Given the description of an element on the screen output the (x, y) to click on. 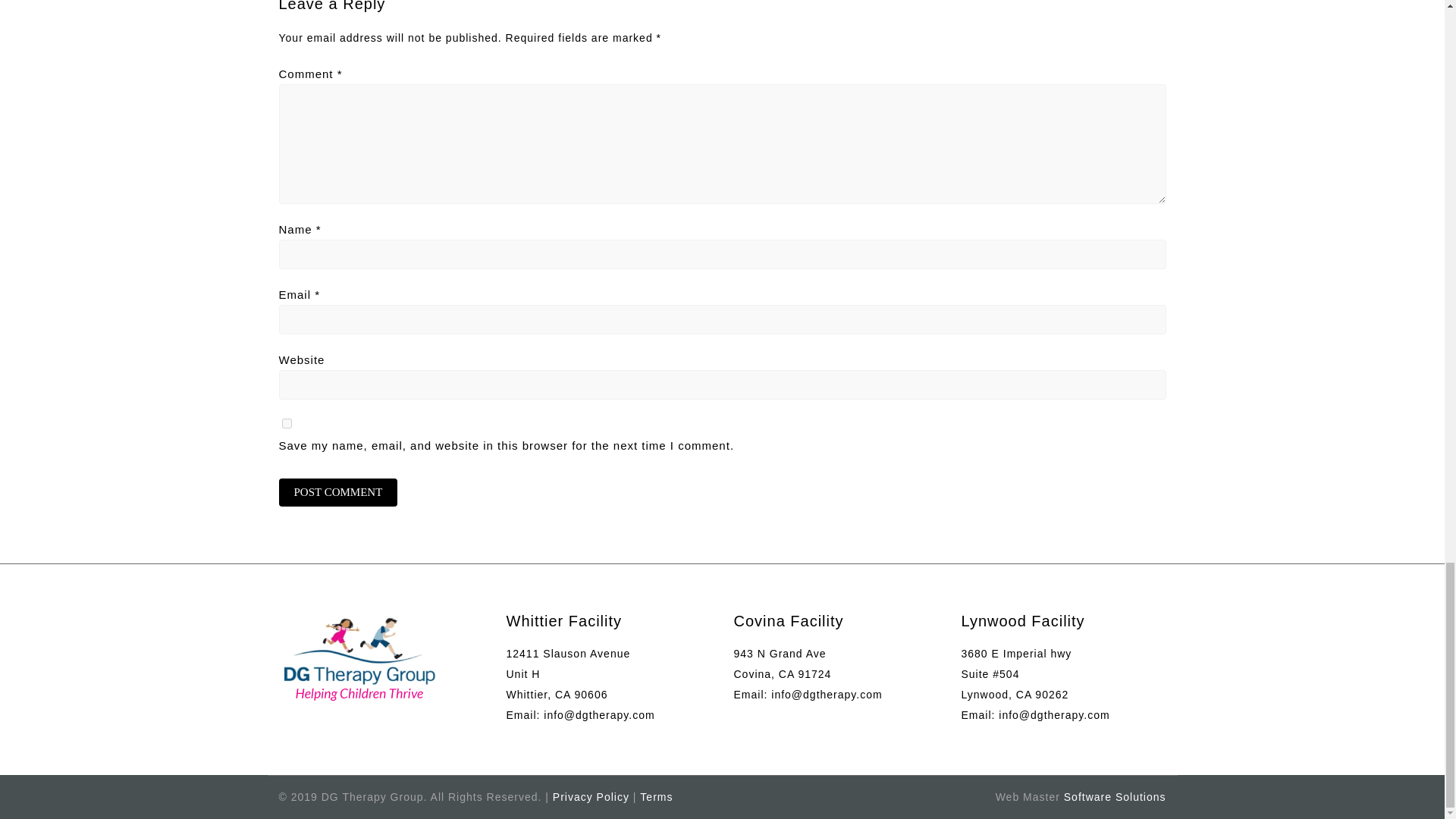
yes (287, 423)
Post Comment (338, 492)
